Given the description of an element on the screen output the (x, y) to click on. 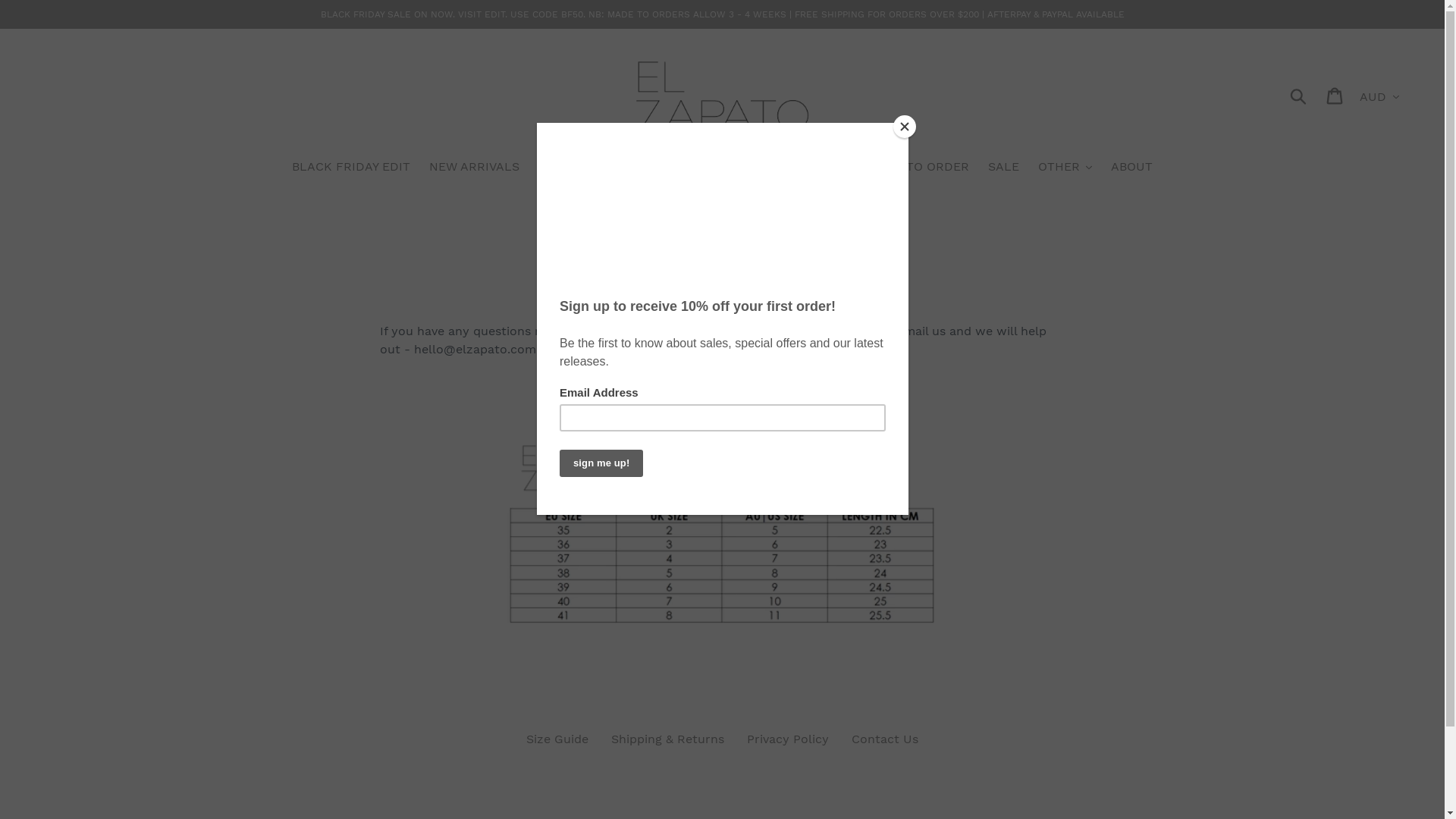
NEW ARRIVALS Element type: text (474, 167)
Size Guide Element type: text (557, 738)
Shipping & Returns Element type: text (667, 738)
Cart Element type: text (1335, 95)
Submit Element type: text (1298, 95)
SALE Element type: text (1003, 167)
ACCESSORIES Element type: text (805, 167)
MADE TO ORDER Element type: text (917, 167)
WINTER Element type: text (720, 167)
SPRING SUMMER 22-23 Element type: text (607, 167)
Privacy Policy Element type: text (787, 738)
Contact Us Element type: text (884, 738)
BLACK FRIDAY EDIT Element type: text (350, 167)
ABOUT Element type: text (1131, 167)
